Given the description of an element on the screen output the (x, y) to click on. 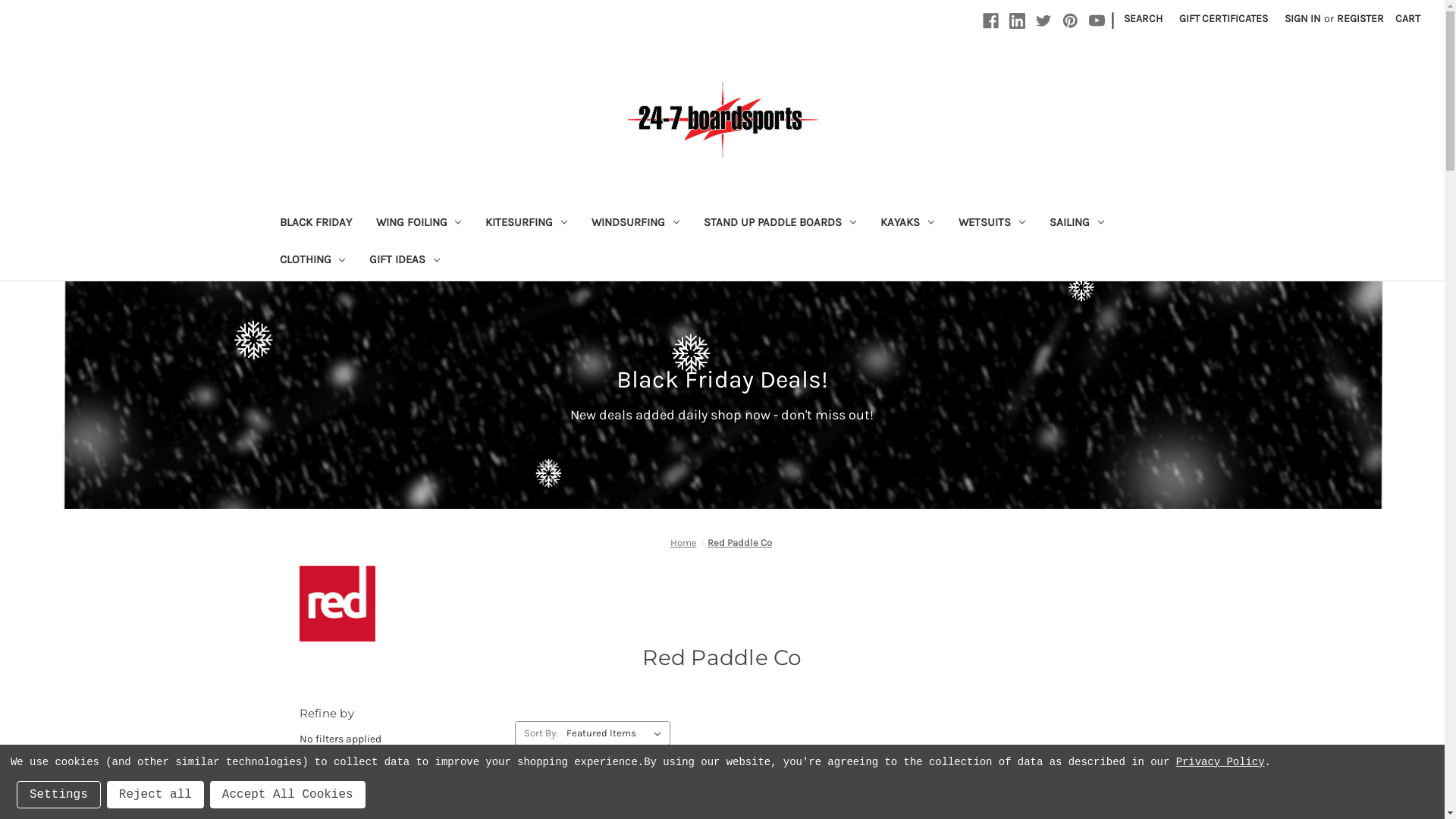
Linkedin Element type: hover (1017, 20)
KITESURFING Element type: text (526, 223)
24-7 Boardsports Element type: hover (722, 119)
GIFT CERTIFICATES Element type: text (1223, 18)
Youtube Element type: hover (1096, 20)
SEARCH Element type: text (1142, 18)
Red Paddle Co Element type: text (739, 542)
Home Element type: text (683, 542)
Pinterest Element type: hover (1070, 20)
WING FOILING Element type: text (418, 223)
SIGN IN Element type: text (1302, 18)
Privacy Policy Element type: text (1220, 762)
GIFT IDEAS Element type: text (404, 260)
BLACK FRIDAY Element type: text (314, 223)
Reject all Element type: text (154, 794)
STAND UP PADDLE BOARDS Element type: text (779, 223)
WETSUITS Element type: text (991, 223)
Twitter Element type: hover (1043, 20)
CART Element type: text (1407, 18)
Accept All Cookies Element type: text (287, 794)
KAYAKS Element type: text (907, 223)
SAILING Element type: text (1076, 223)
REGISTER Element type: text (1360, 18)
Facebook Element type: hover (990, 20)
CLOTHING Element type: text (311, 260)
WINDSURFING Element type: text (635, 223)
Red Paddle Co Element type: hover (336, 603)
Settings Element type: text (58, 794)
